Given the description of an element on the screen output the (x, y) to click on. 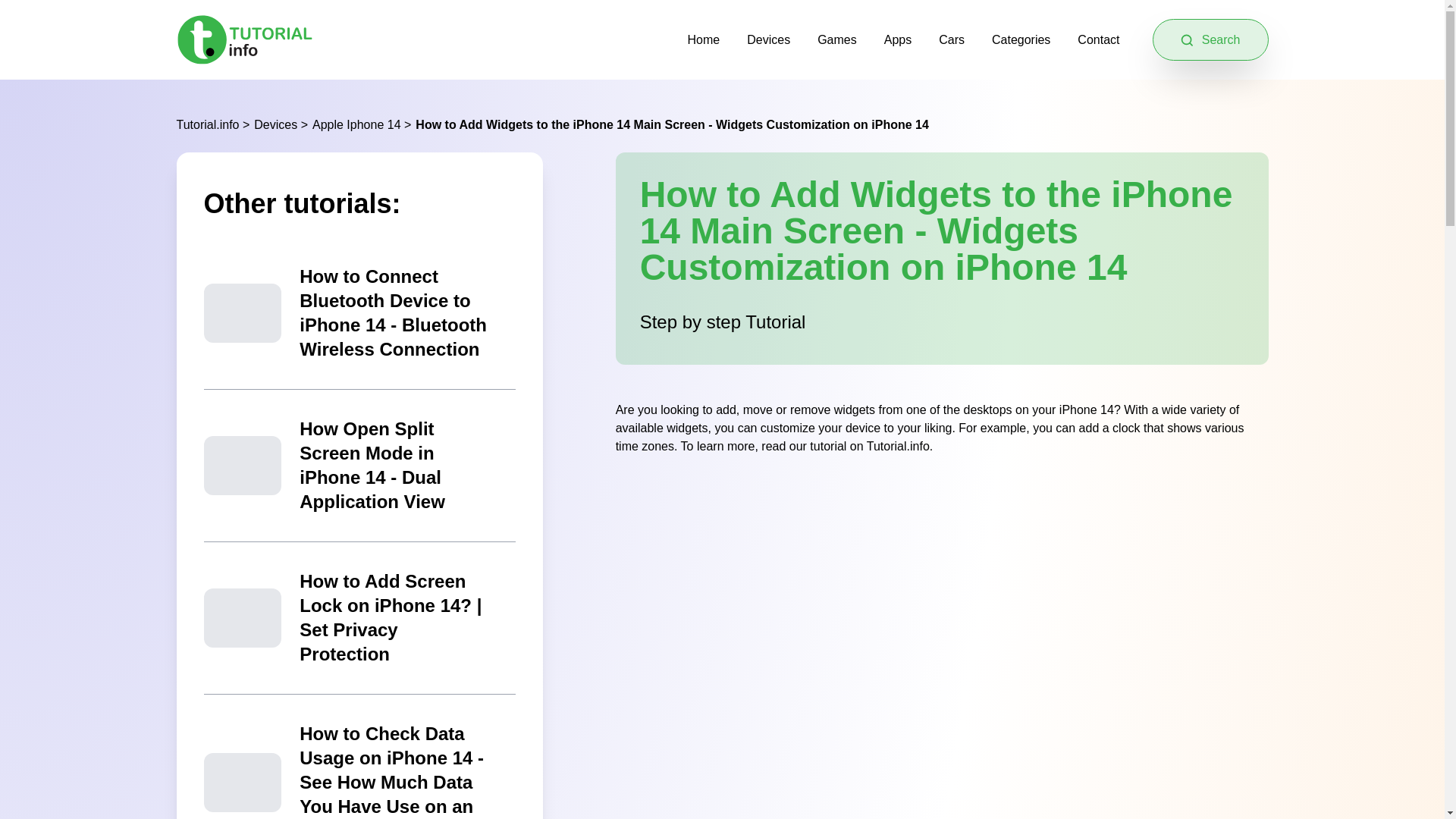
Games (836, 39)
Home (703, 39)
Apps (897, 39)
Cars (951, 39)
Devices (768, 39)
